Given the description of an element on the screen output the (x, y) to click on. 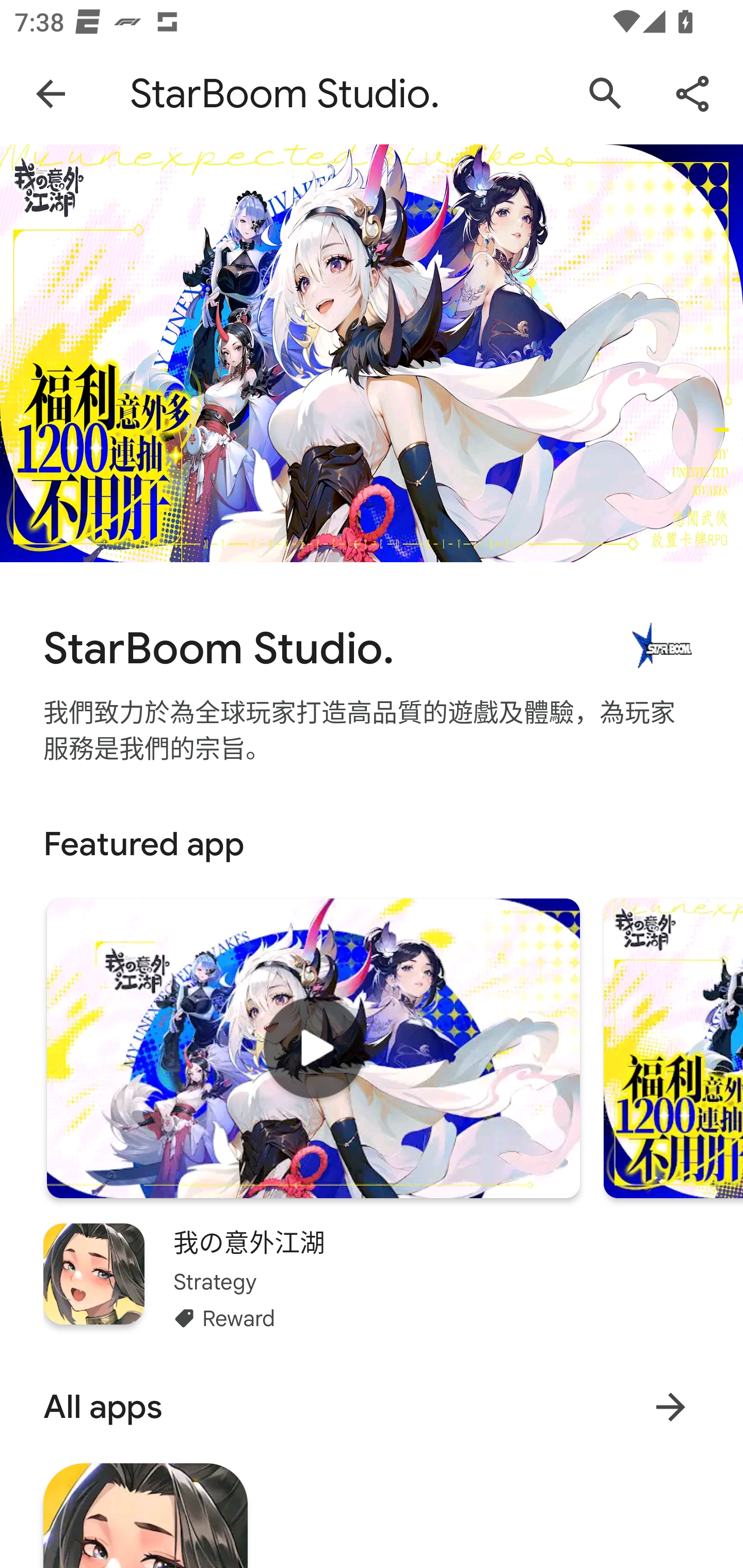
Navigate up (50, 93)
Search Google Play (605, 93)
Share (692, 93)
Play trailer for "我の意外江湖" (313, 1047)
我の意外江湖
Strategy
Reward
 (371, 1278)
All apps More results for All apps (371, 1407)
More results for All apps (670, 1407)
